Given the description of an element on the screen output the (x, y) to click on. 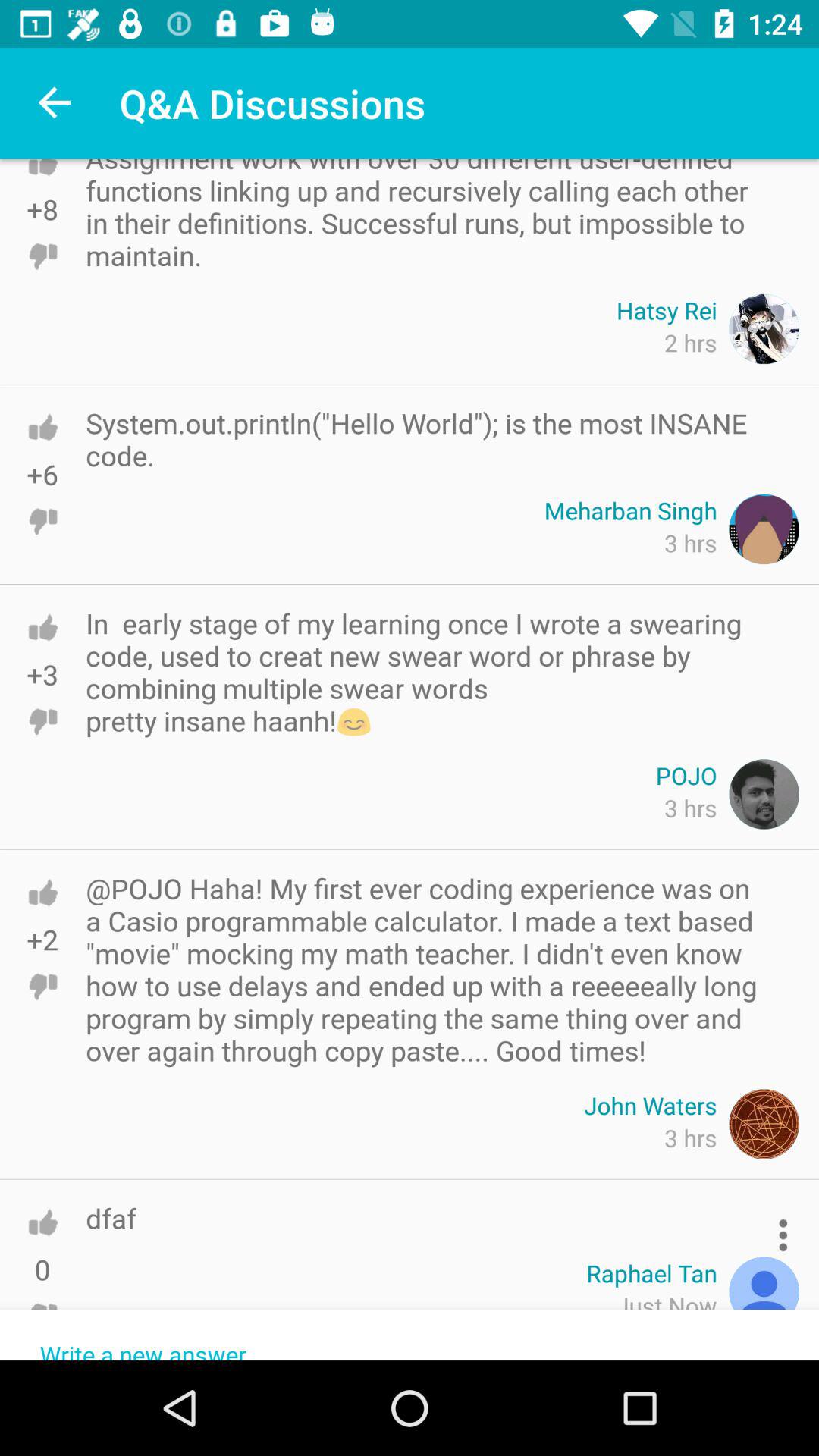
select to dislike (42, 721)
